Given the description of an element on the screen output the (x, y) to click on. 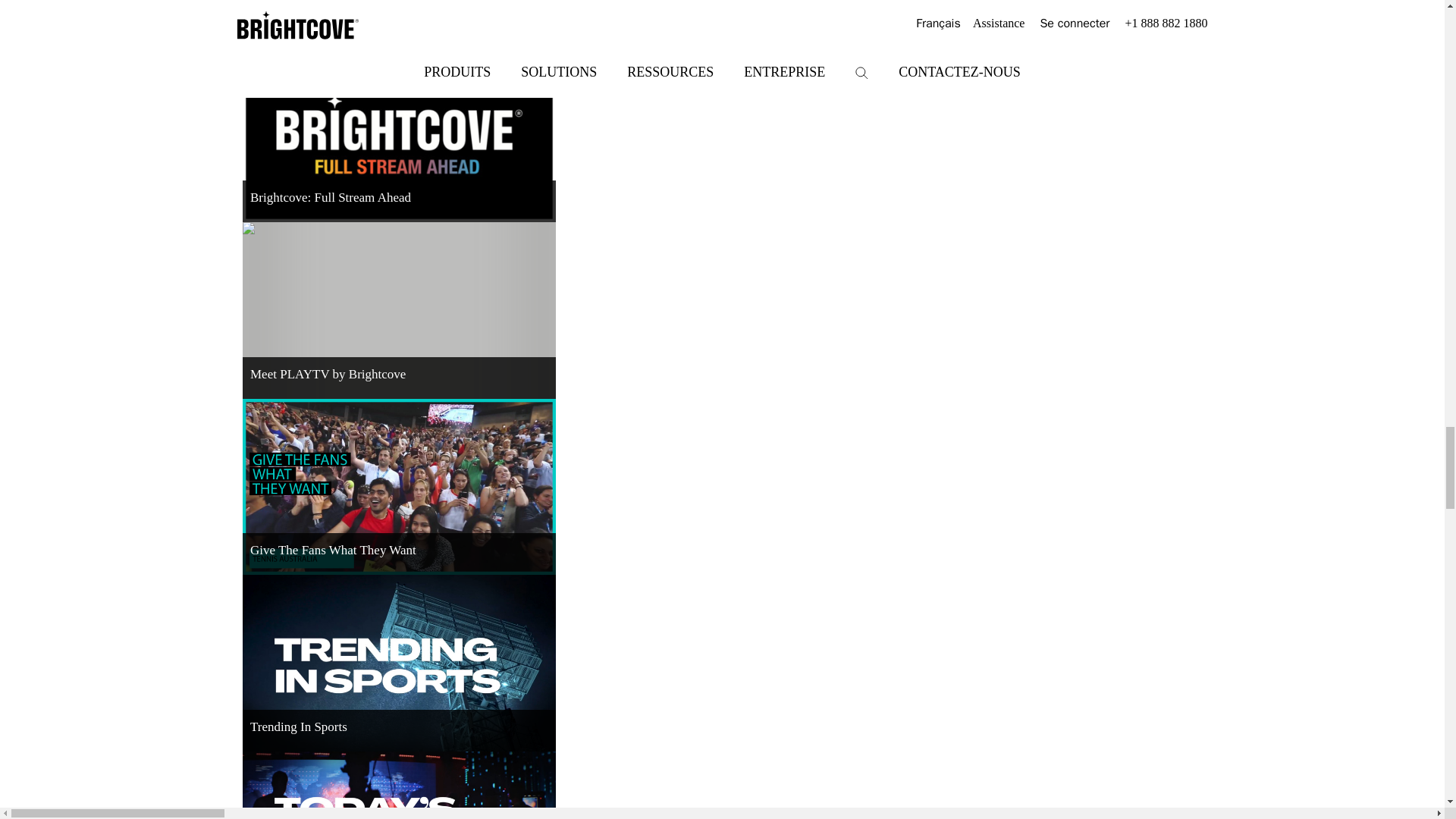
Brightcove: Full Stream Ahead (399, 133)
Driving Revenue From Rugby (399, 22)
